Given the description of an element on the screen output the (x, y) to click on. 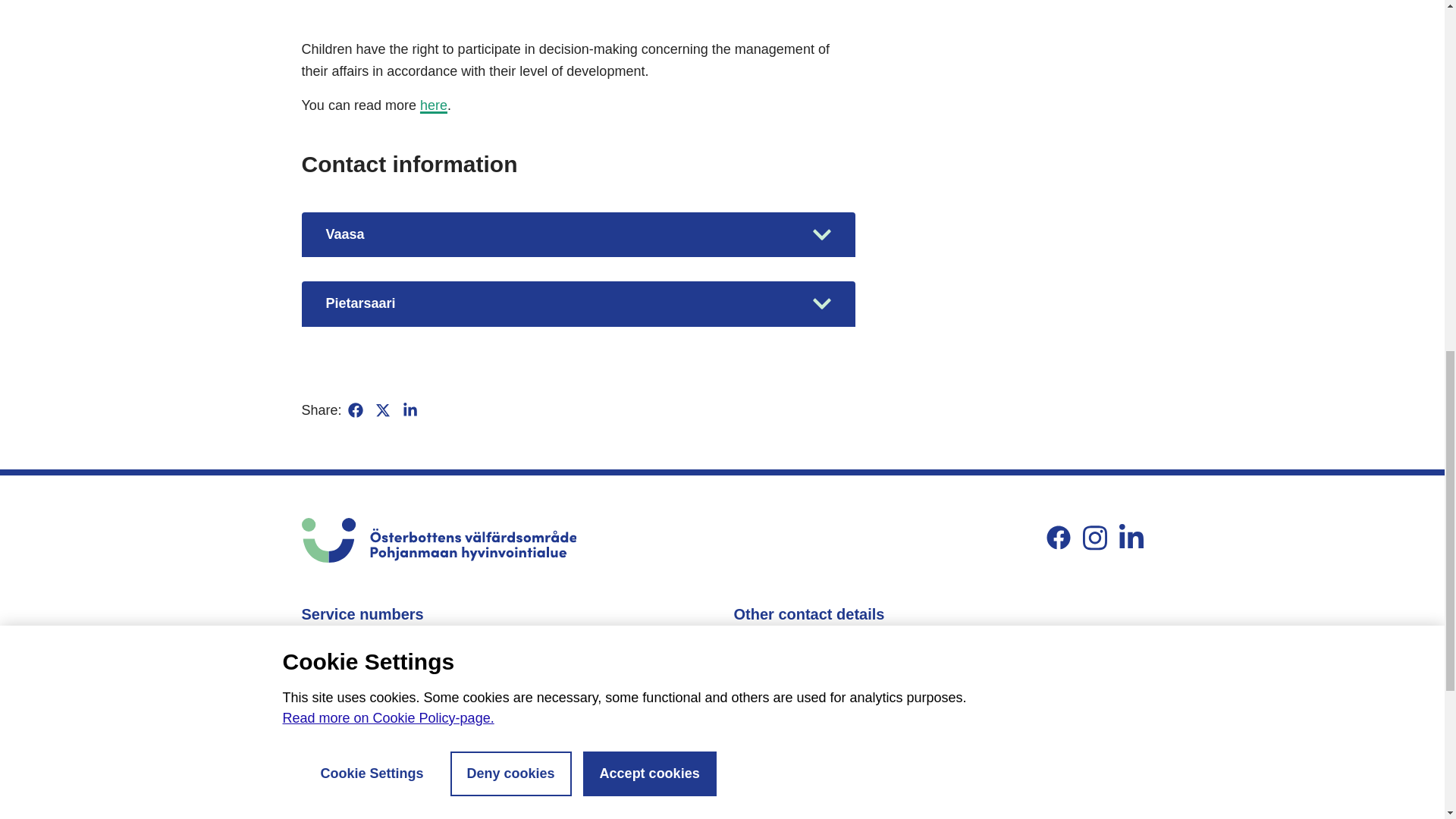
Share on Twitter (382, 409)
Pietarsaari (578, 303)
116 117 (349, 675)
here (433, 105)
Share on Facebook (354, 409)
Share on LinkedIn (410, 409)
Vaasa (578, 234)
